Given the description of an element on the screen output the (x, y) to click on. 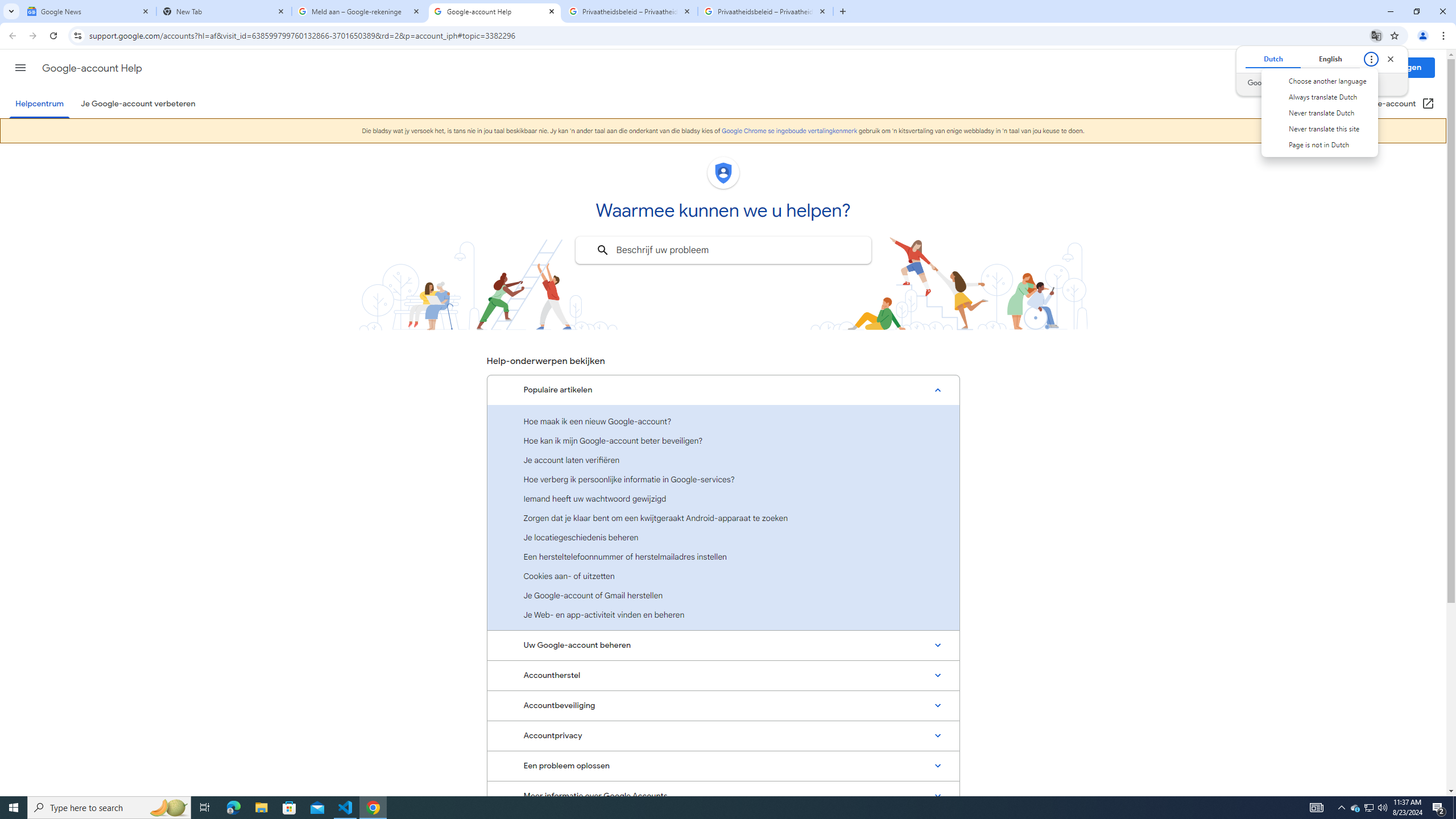
Hoe verberg ik persoonlijke informatie in Google-services? (722, 479)
Never translate Dutch (1318, 112)
Page is not in Dutch (1318, 144)
Zoeken (1368, 807)
Notification Chevron (601, 249)
Je Google-account verbeteren (1341, 807)
Google News (138, 103)
Always translate Dutch (88, 11)
Type here to search (1318, 96)
